Given the description of an element on the screen output the (x, y) to click on. 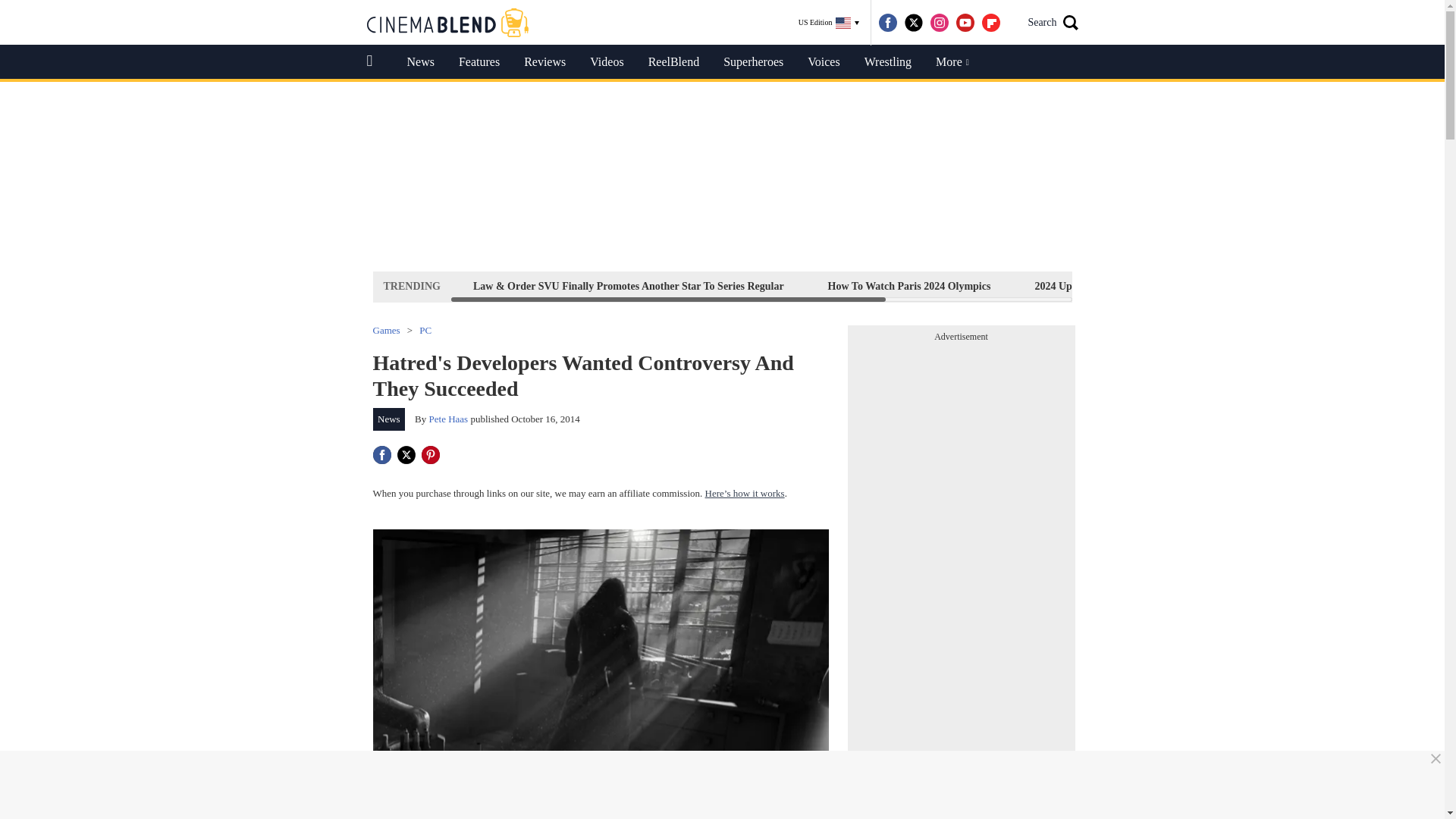
Videos (606, 61)
How To Watch Paris 2024 Olympics (908, 286)
ReelBlend (673, 61)
US Edition (828, 22)
Superheroes (752, 61)
Features (479, 61)
2024 Upcoming Movies (1086, 286)
News (419, 61)
Reviews (545, 61)
100 Best Sitcoms Of All Time (1250, 286)
Voices (822, 61)
